Given the description of an element on the screen output the (x, y) to click on. 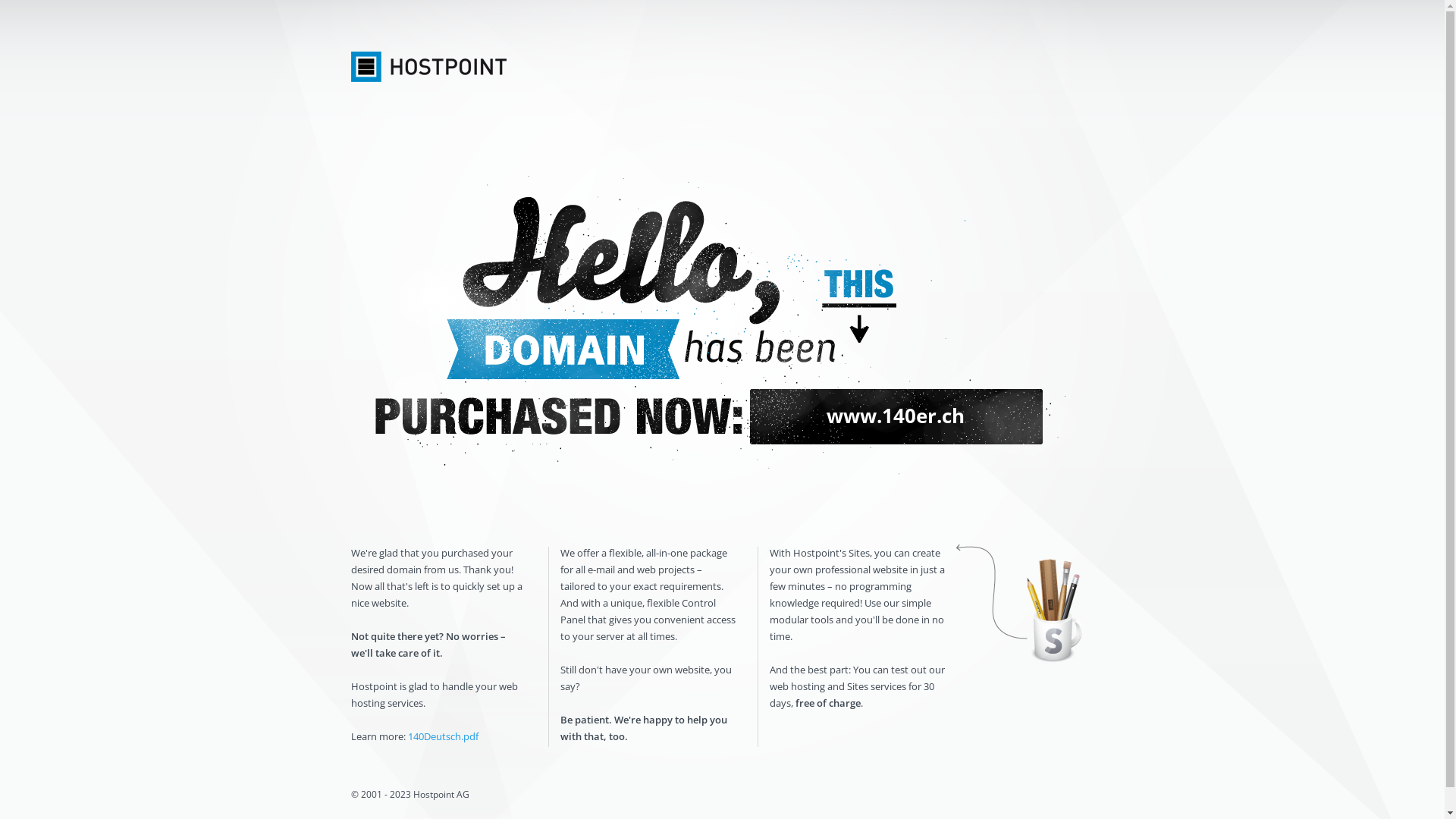
140Deutsch.pdf Element type: text (442, 736)
